Given the description of an element on the screen output the (x, y) to click on. 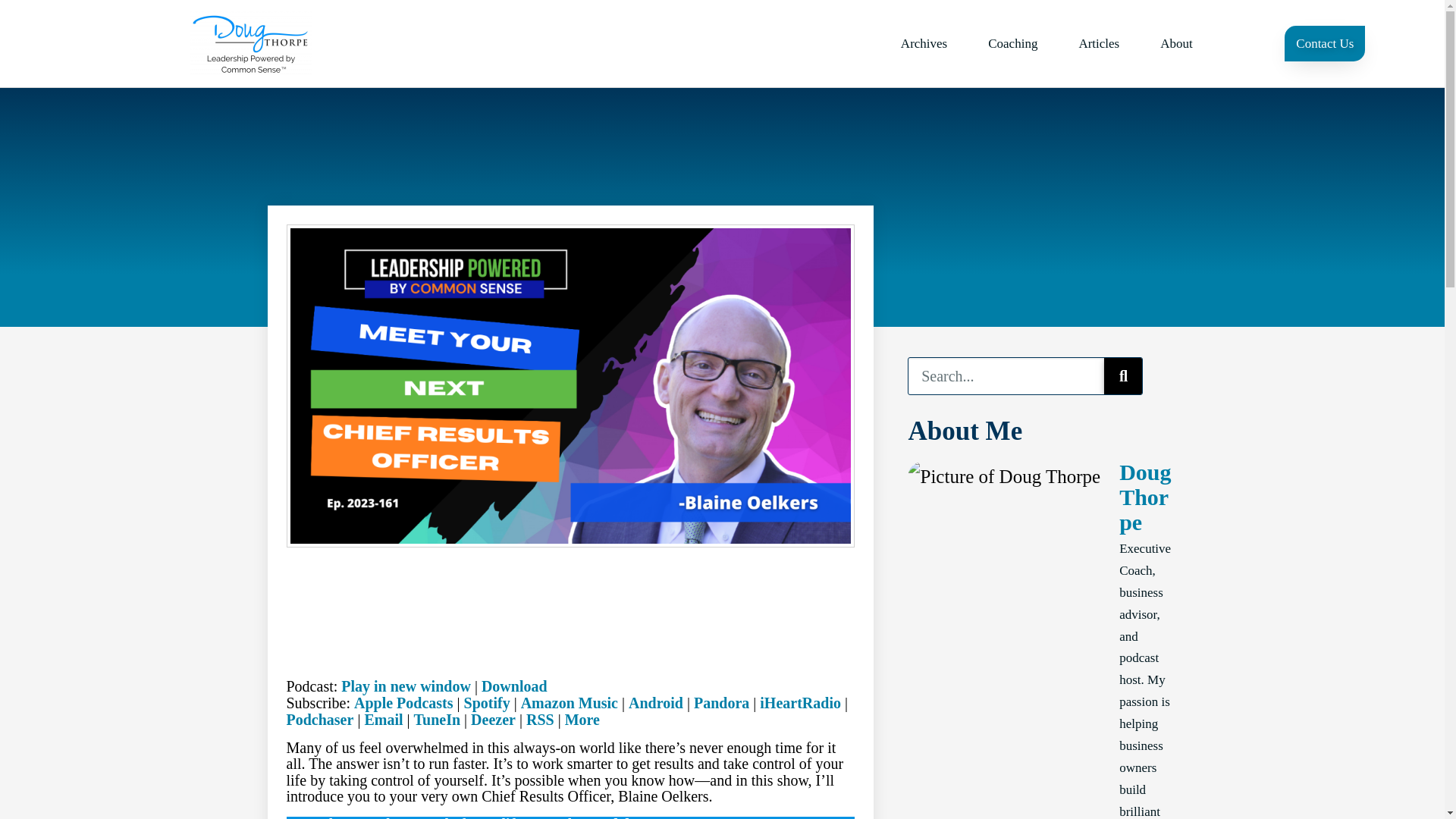
Articles (1099, 42)
iHeartRadio (800, 702)
More (581, 719)
Deezer (492, 719)
Subscribe on Podchaser (319, 719)
Coaching (1013, 42)
Subscribe on Android (655, 702)
Android (655, 702)
Subscribe on TuneIn (437, 719)
Amazon Music (569, 702)
Subscribe on Spotify (487, 702)
Subscribe on iHeartRadio (800, 702)
TuneIn (437, 719)
Subscribe by Email (383, 719)
Podchaser (319, 719)
